Given the description of an element on the screen output the (x, y) to click on. 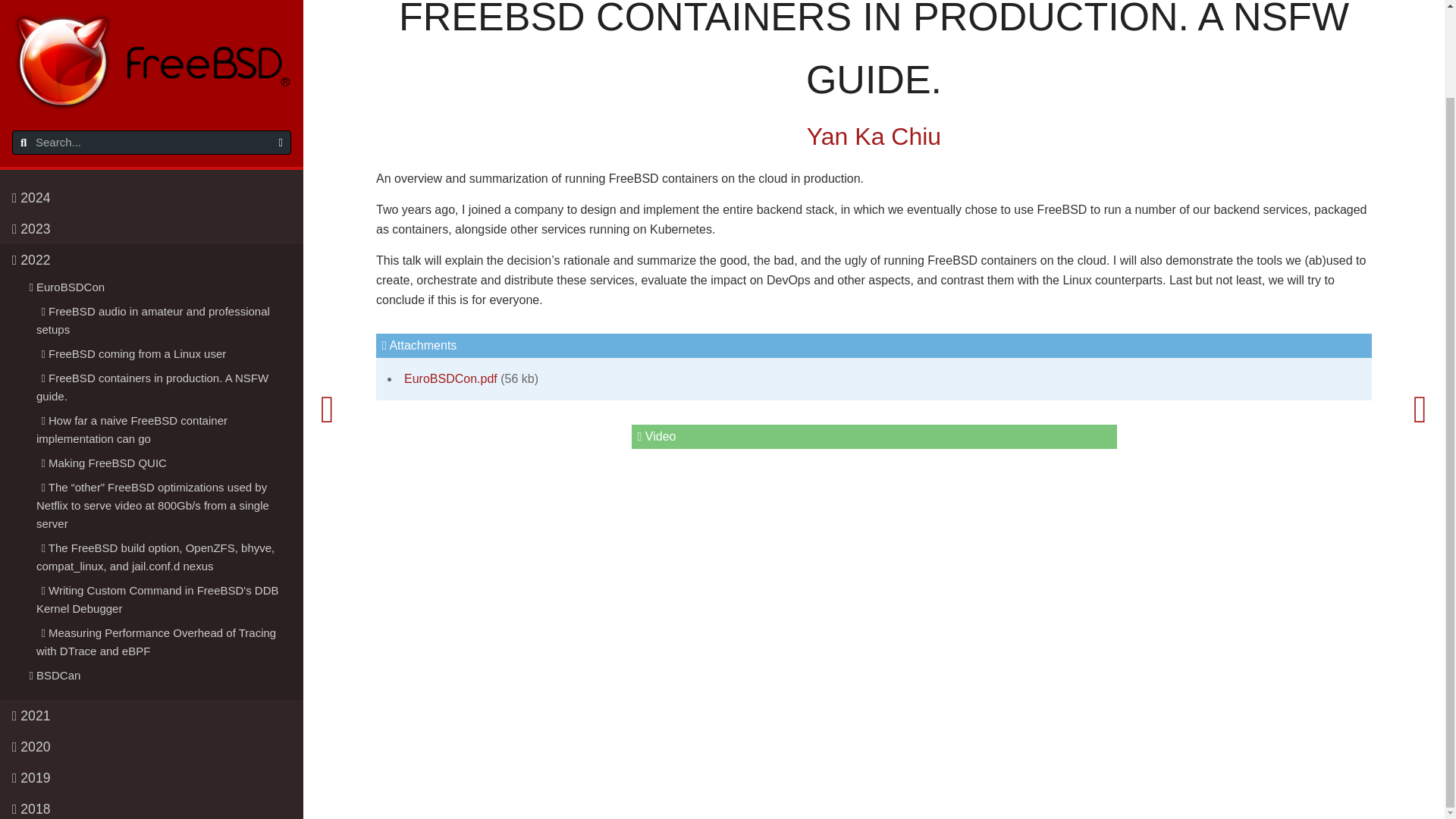
2019 (151, 677)
2020 (151, 646)
2024 (151, 97)
FreeBSD audio in amateur and professional setups (157, 220)
Writing Custom Command in FreeBSD's DDB Kernel Debugger (163, 500)
FreeBSD coming from a Linux user (163, 254)
How far a naive FreeBSD container implementation can go (157, 330)
How far a naive FreeBSD container implementation can go (163, 330)
Making FreeBSD QUIC (157, 363)
